Given the description of an element on the screen output the (x, y) to click on. 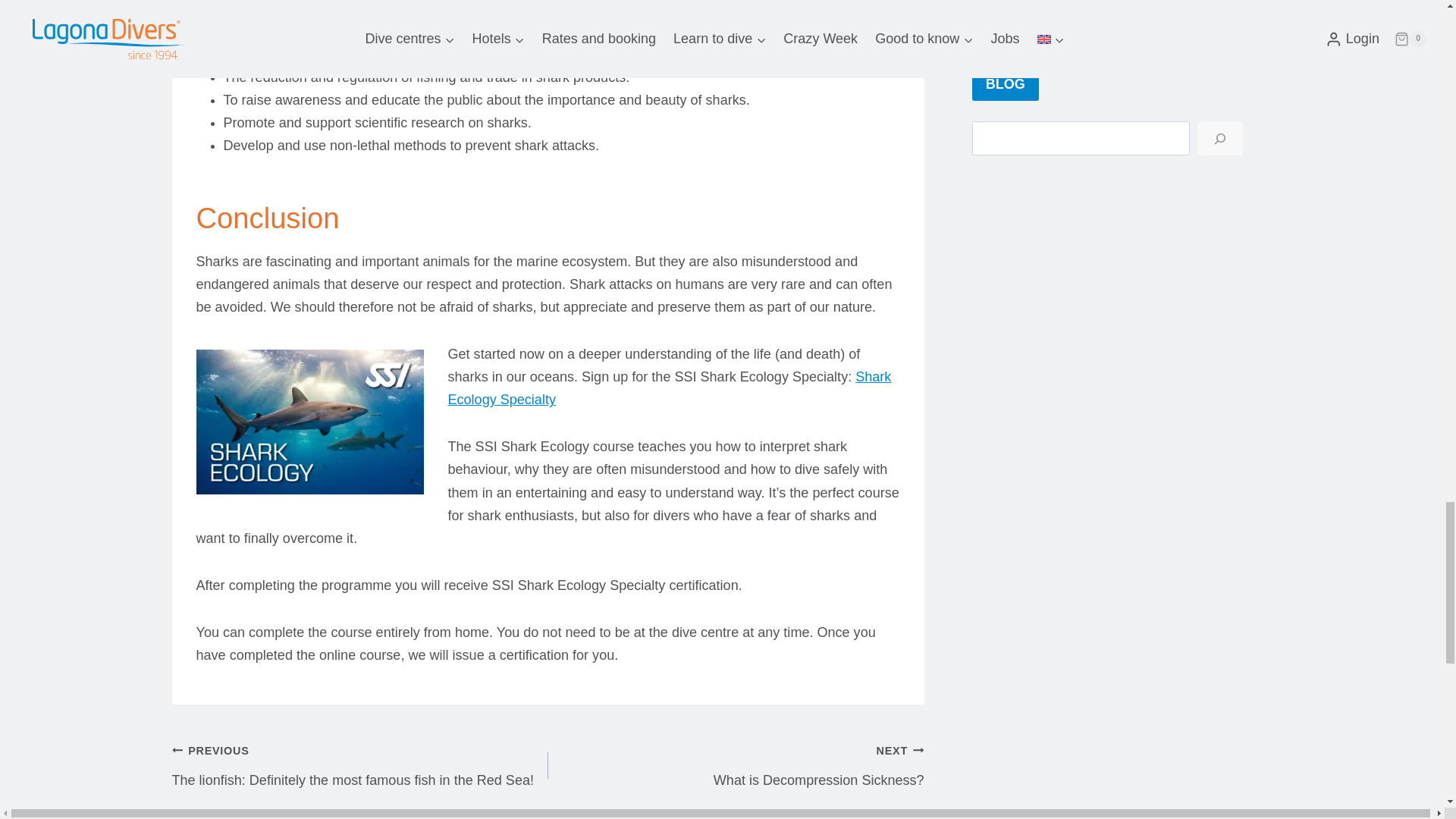
Shark Ecology Specialty (668, 388)
